Given the description of an element on the screen output the (x, y) to click on. 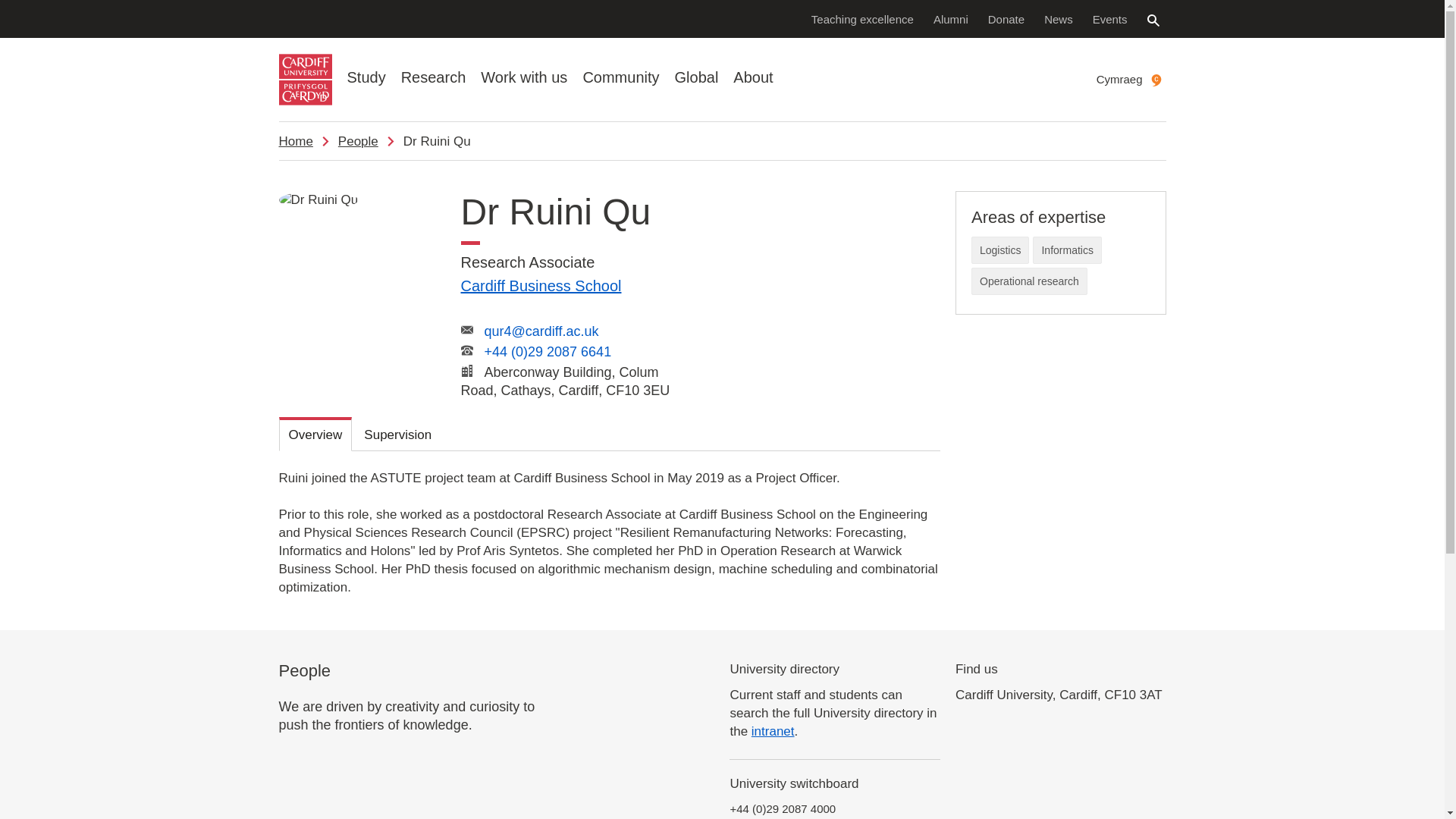
Events (1109, 19)
News (1058, 19)
cymraeg (1155, 80)
Telephone (467, 349)
Search (1152, 20)
Cardiff University logo (305, 79)
Campuses (467, 370)
Cardiff University logo (305, 79)
Email (467, 329)
Alumni (951, 19)
